Given the description of an element on the screen output the (x, y) to click on. 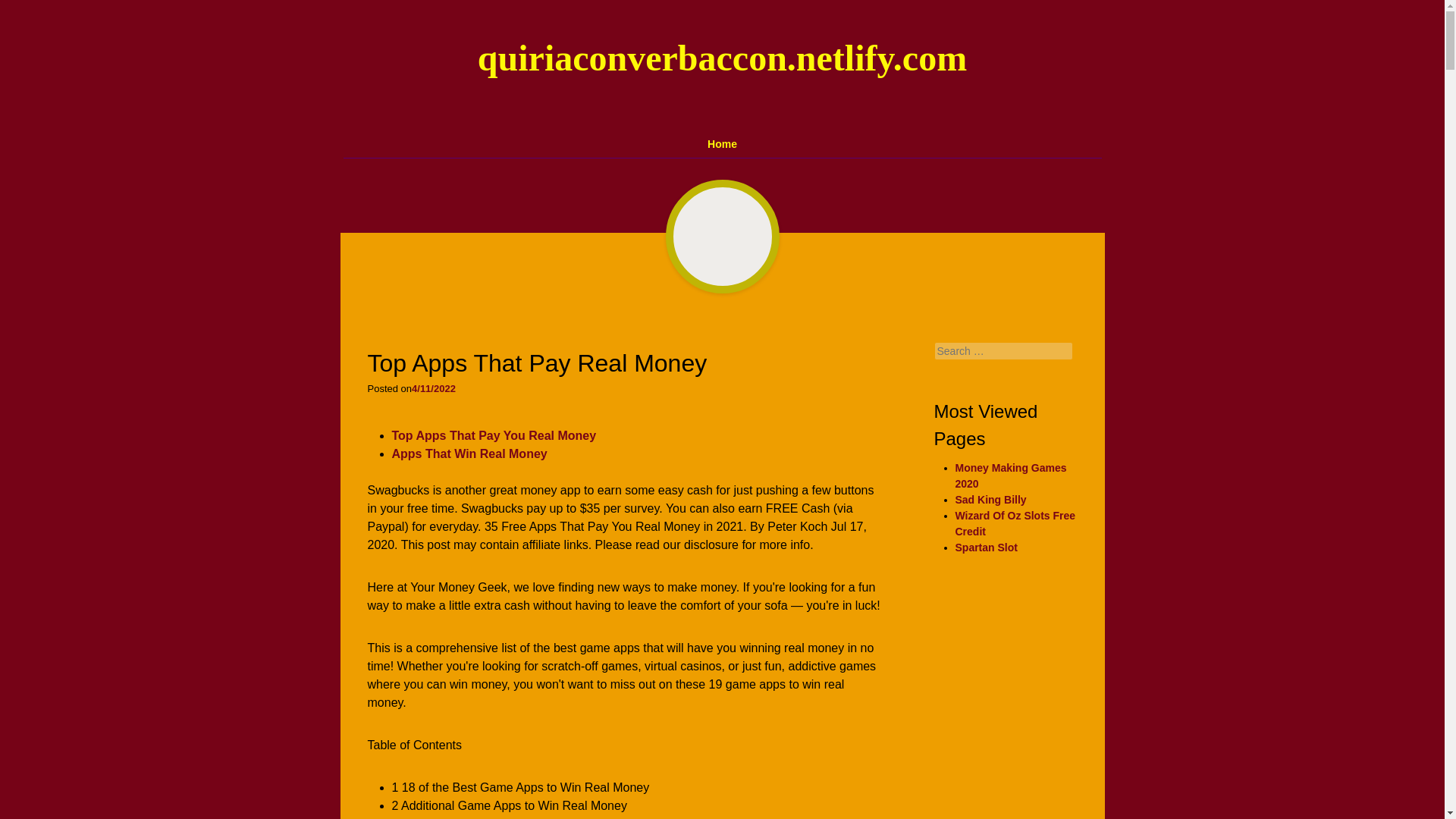
Skip to content (350, 136)
Sad King Billy (990, 499)
quiriaconverbaccon.netlify.com (721, 57)
Apps That Win Real Money (469, 453)
Search (28, 13)
Spartan Slot (986, 547)
Wizard Of Oz Slots Free Credit (1015, 523)
quiriaconverbaccon.netlify.com (721, 57)
Home (722, 144)
Top Apps That Pay You Real Money (493, 435)
Money Making Games 2020 (1011, 475)
